Given the description of an element on the screen output the (x, y) to click on. 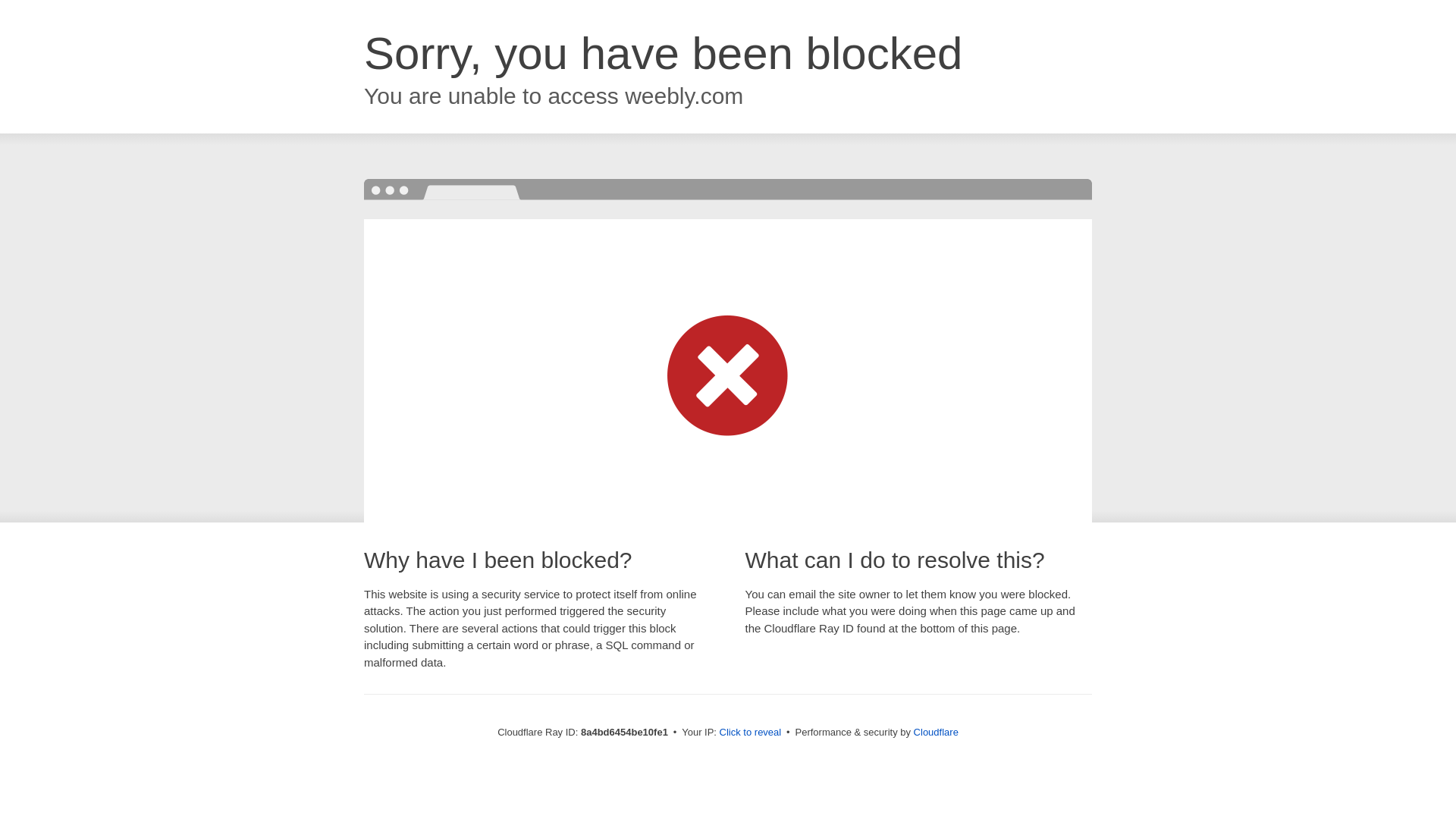
Click to reveal (750, 732)
Cloudflare (936, 731)
